Given the description of an element on the screen output the (x, y) to click on. 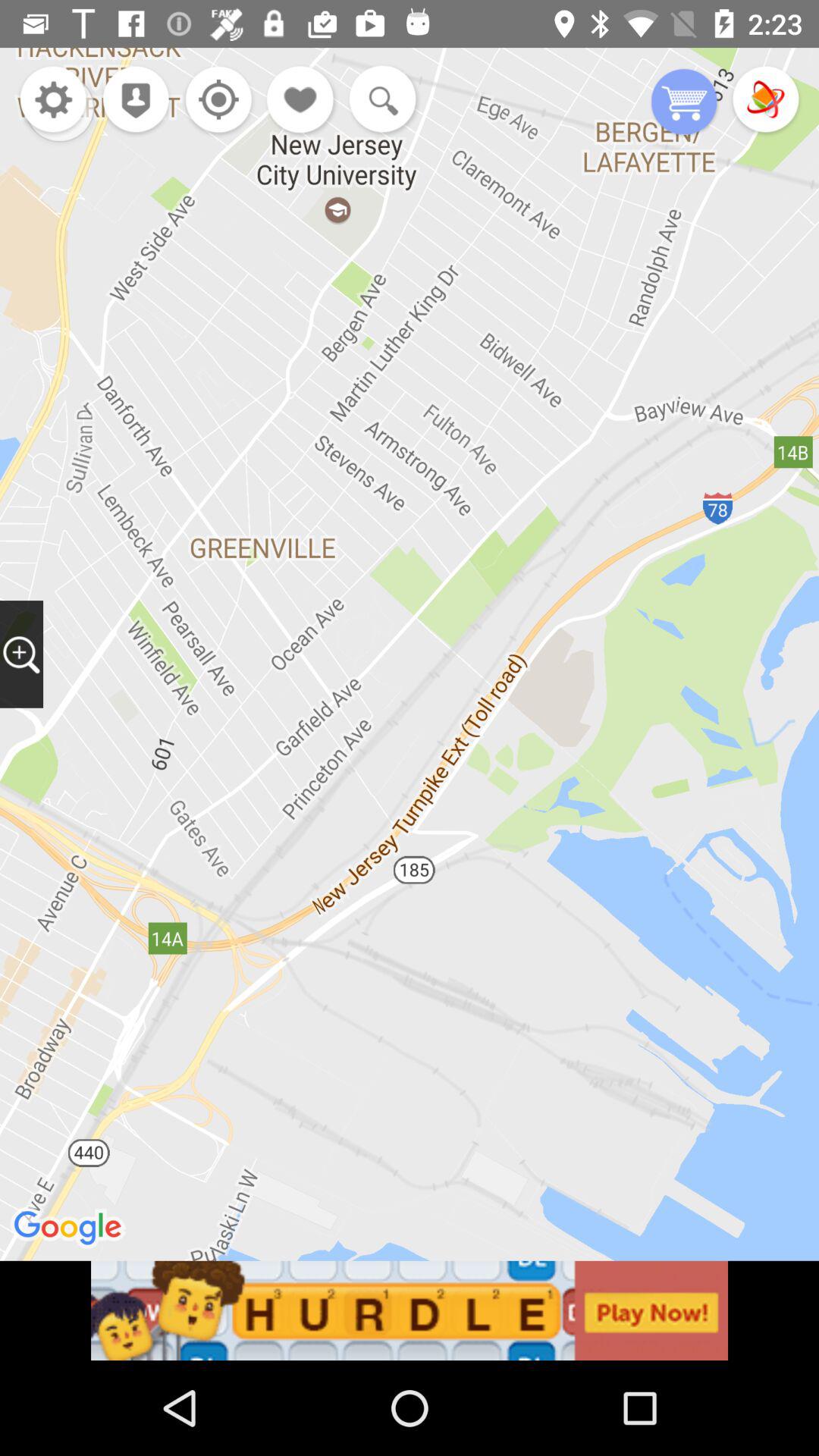
search option (379, 100)
